Given the description of an element on the screen output the (x, y) to click on. 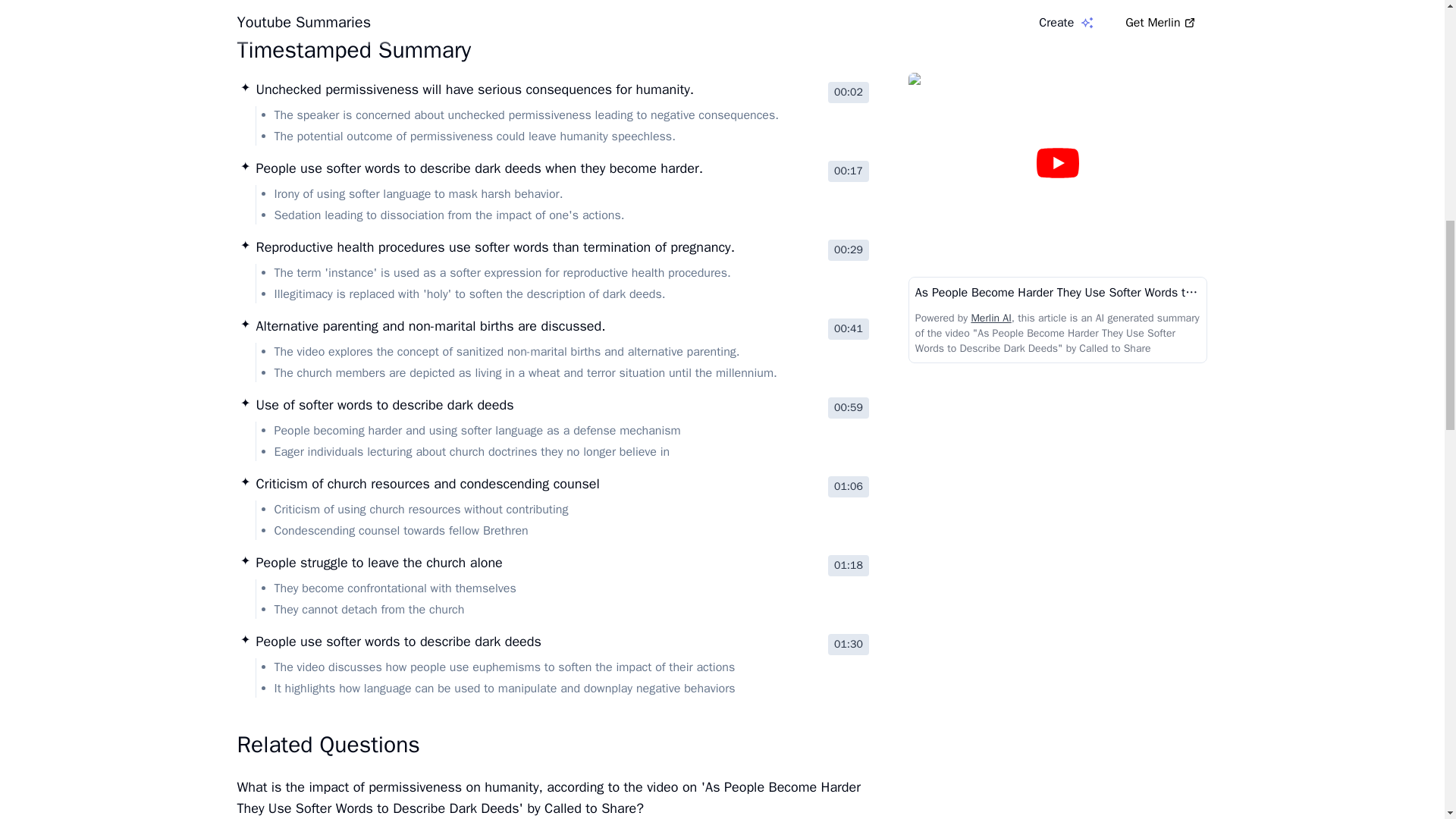
01:06 (848, 486)
01:30 (848, 644)
00:41 (848, 328)
01:18 (848, 565)
00:17 (848, 170)
00:02 (848, 92)
00:59 (848, 407)
00:29 (848, 250)
